Given the description of an element on the screen output the (x, y) to click on. 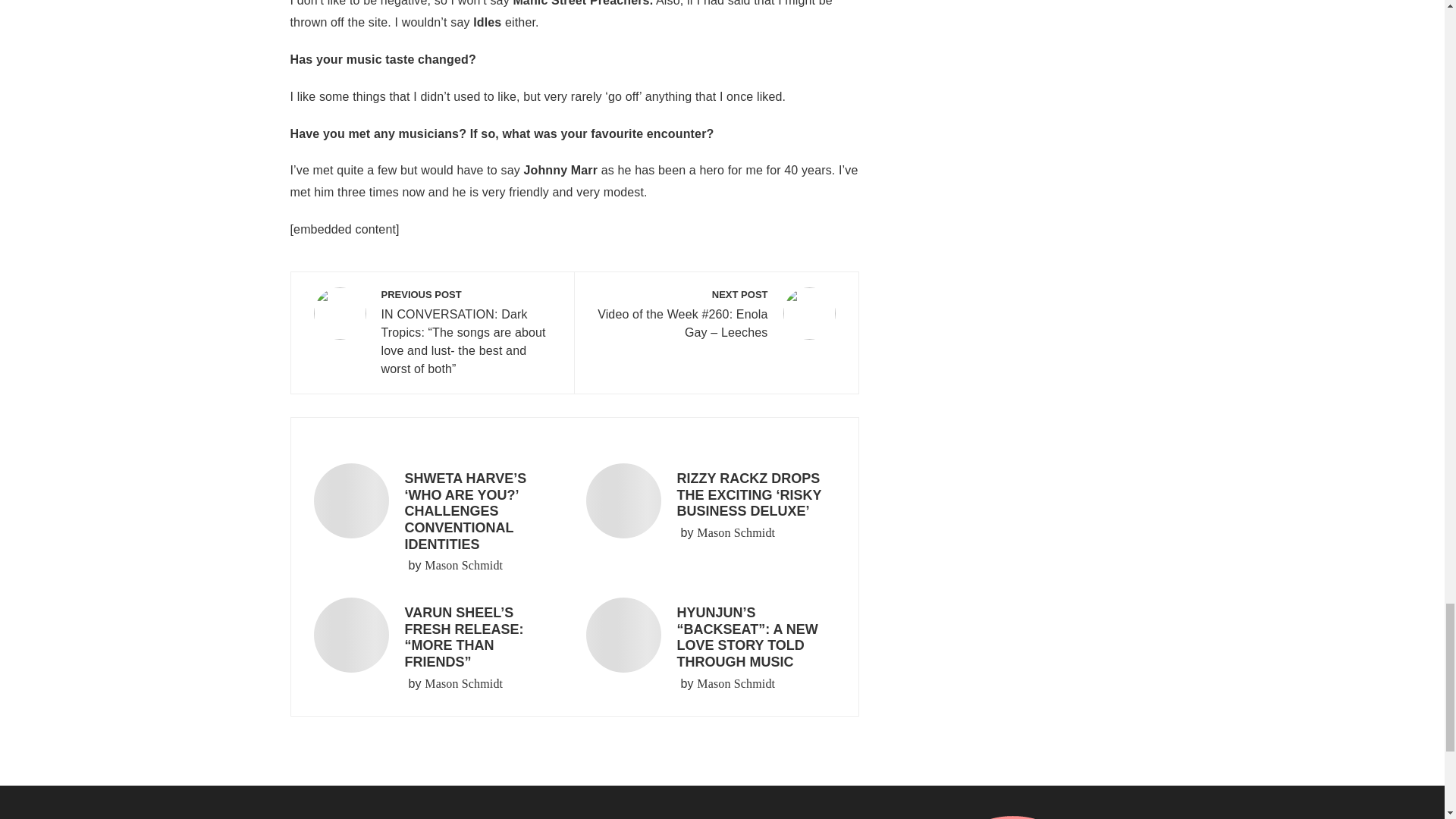
Mason Schmidt (735, 533)
Mason Schmidt (735, 683)
Mason Schmidt (463, 565)
Mason Schmidt (463, 683)
Home (425, 817)
